Given the description of an element on the screen output the (x, y) to click on. 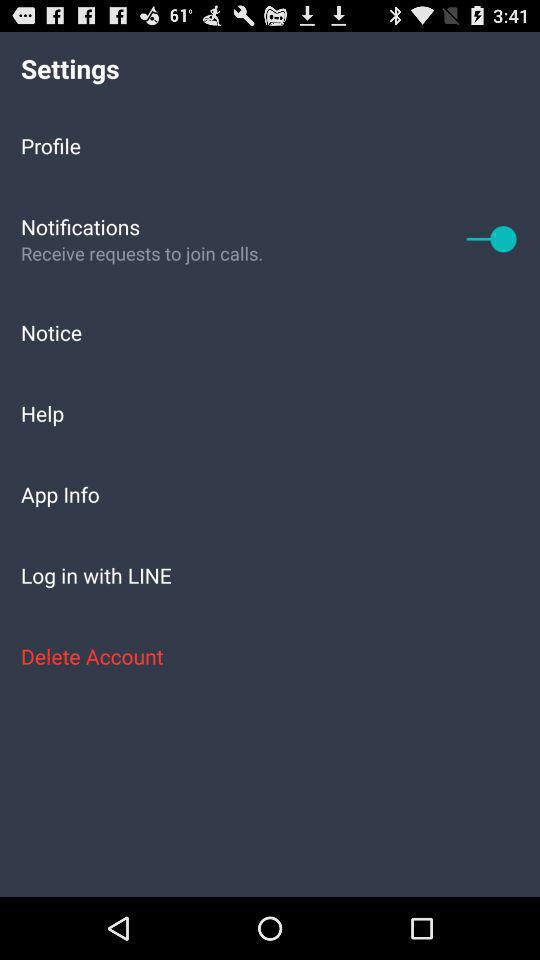
choose the item above notifications item (270, 145)
